Given the description of an element on the screen output the (x, y) to click on. 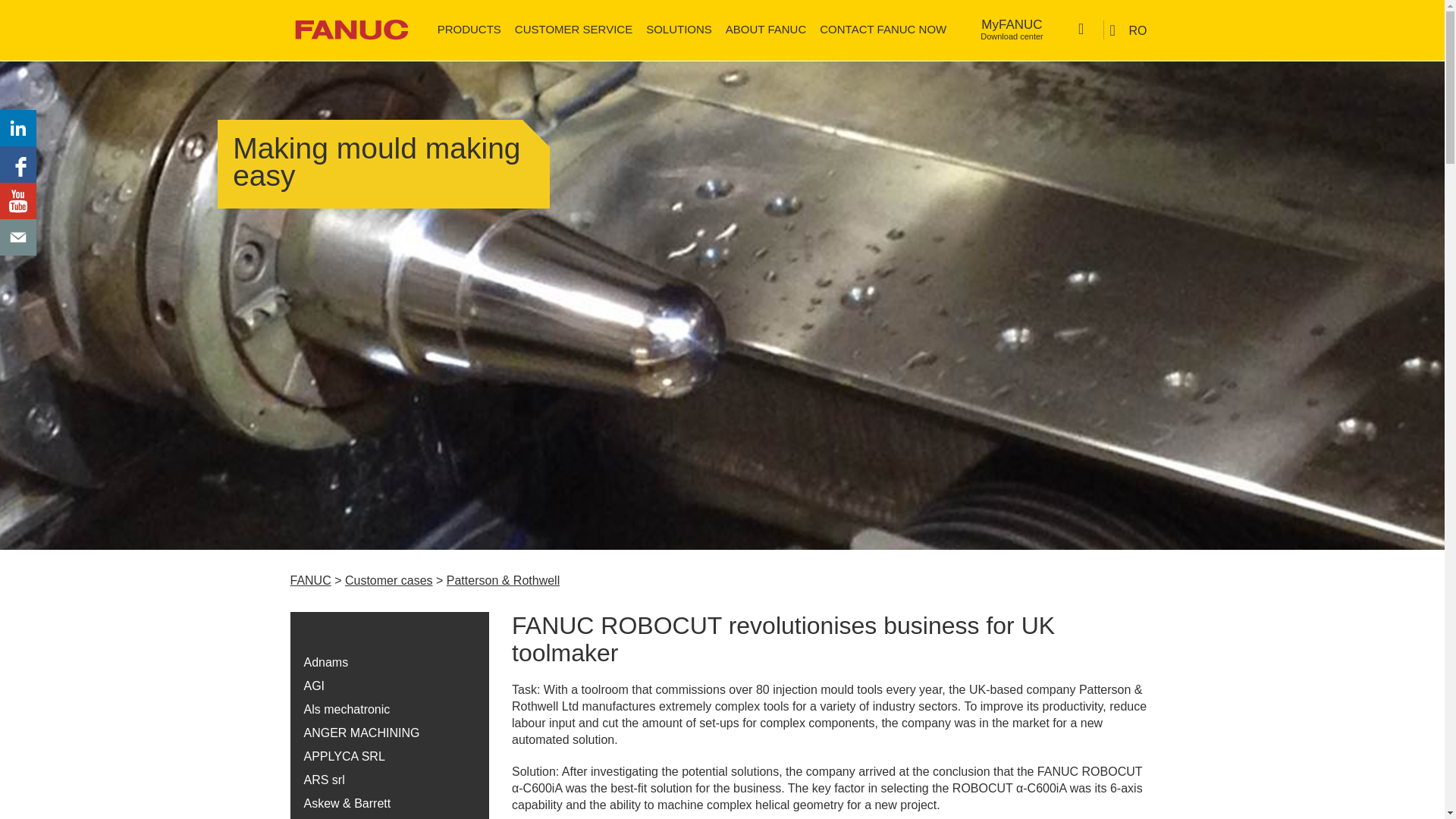
PRODUCTS (469, 29)
SOLUTIONS (678, 29)
RO (1128, 29)
fanuc (349, 29)
ABOUT FANUC (765, 29)
CUSTOMER SERVICE (573, 29)
CONTACT FANUC NOW (1011, 29)
